Given the description of an element on the screen output the (x, y) to click on. 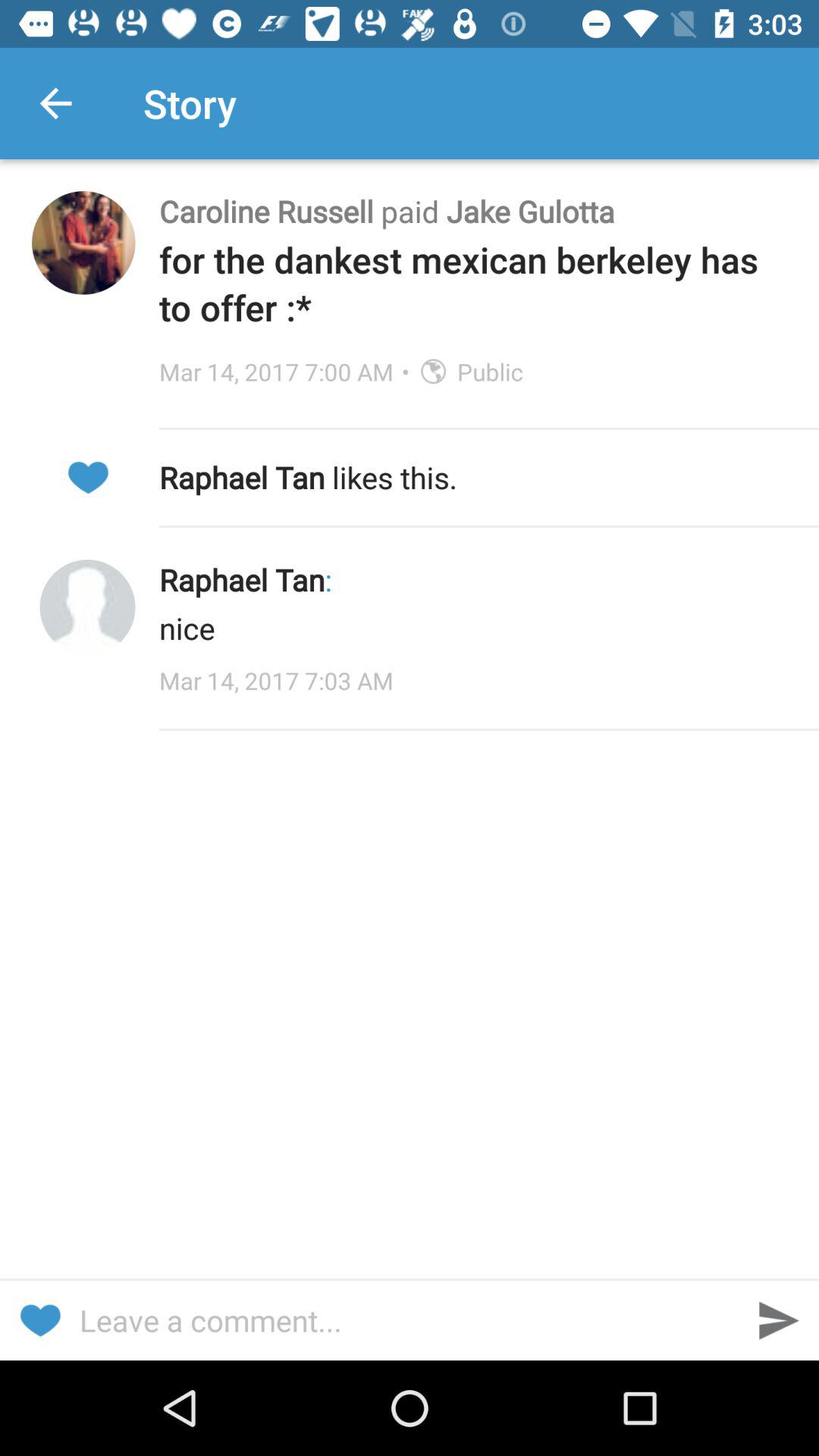
click the item above for the dankest item (473, 211)
